Given the description of an element on the screen output the (x, y) to click on. 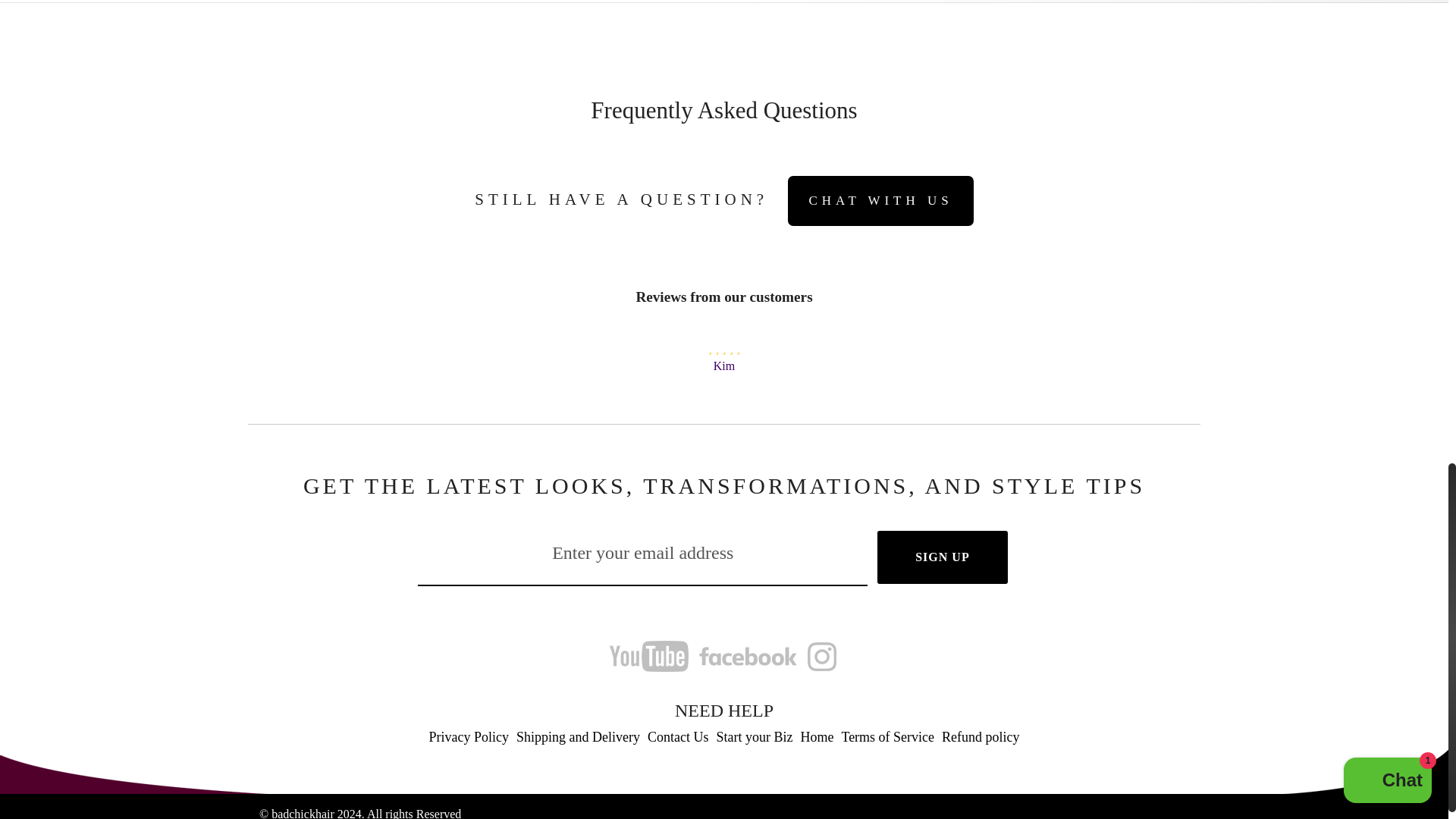
Contact Us (678, 738)
Terms of Service (887, 738)
Sign Up (942, 556)
Sign Up (942, 556)
Start your Biz (753, 738)
Refund policy (980, 738)
CHAT WITH US (879, 201)
Kim (724, 365)
Shipping and Delivery (577, 738)
Privacy Policy (468, 738)
Home (816, 738)
